Given the description of an element on the screen output the (x, y) to click on. 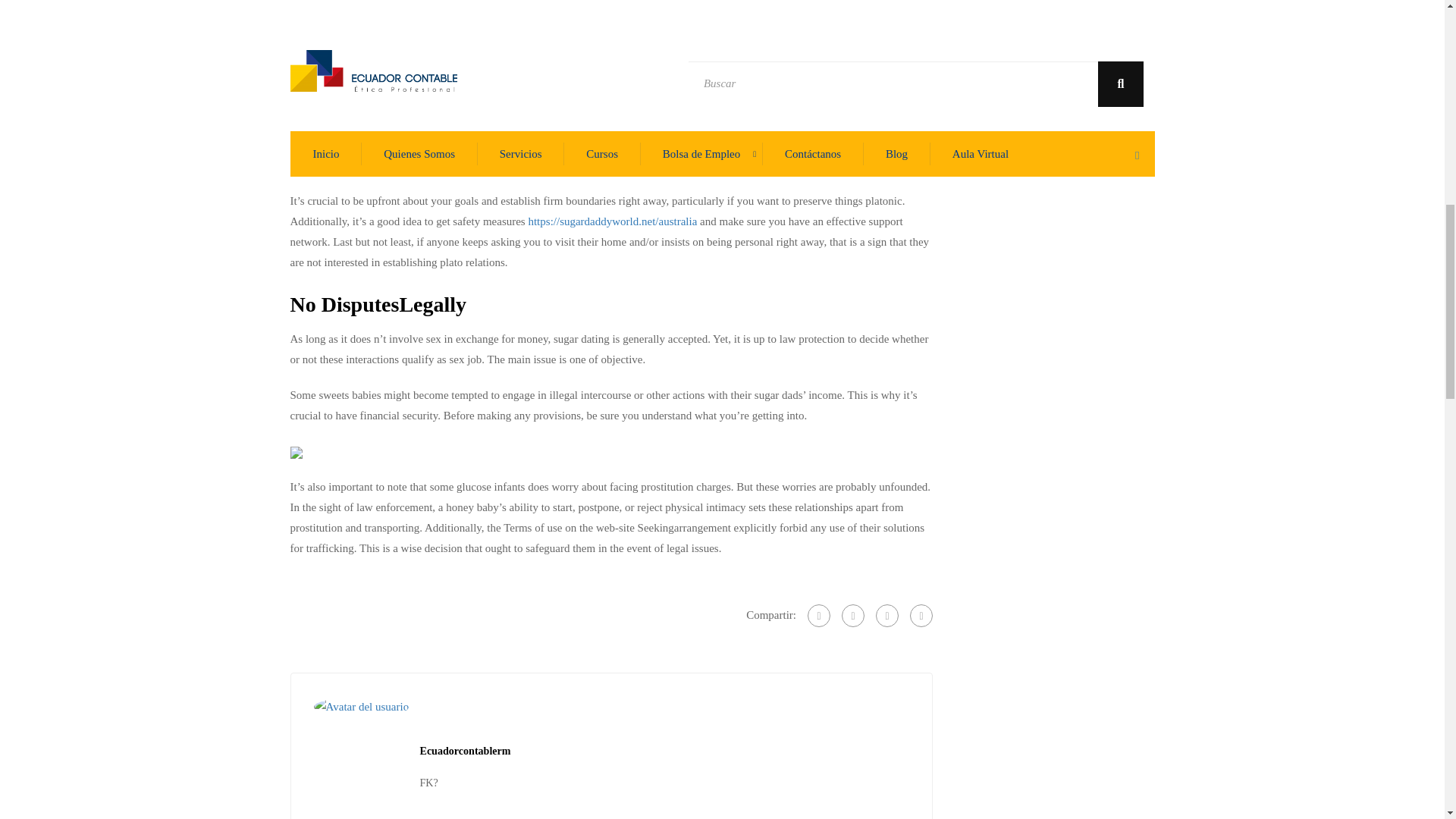
Ecuadorcontablerm (465, 750)
Twitter (887, 615)
Pinterest (921, 615)
Google Plus (852, 615)
Facebook (818, 615)
